Given the description of an element on the screen output the (x, y) to click on. 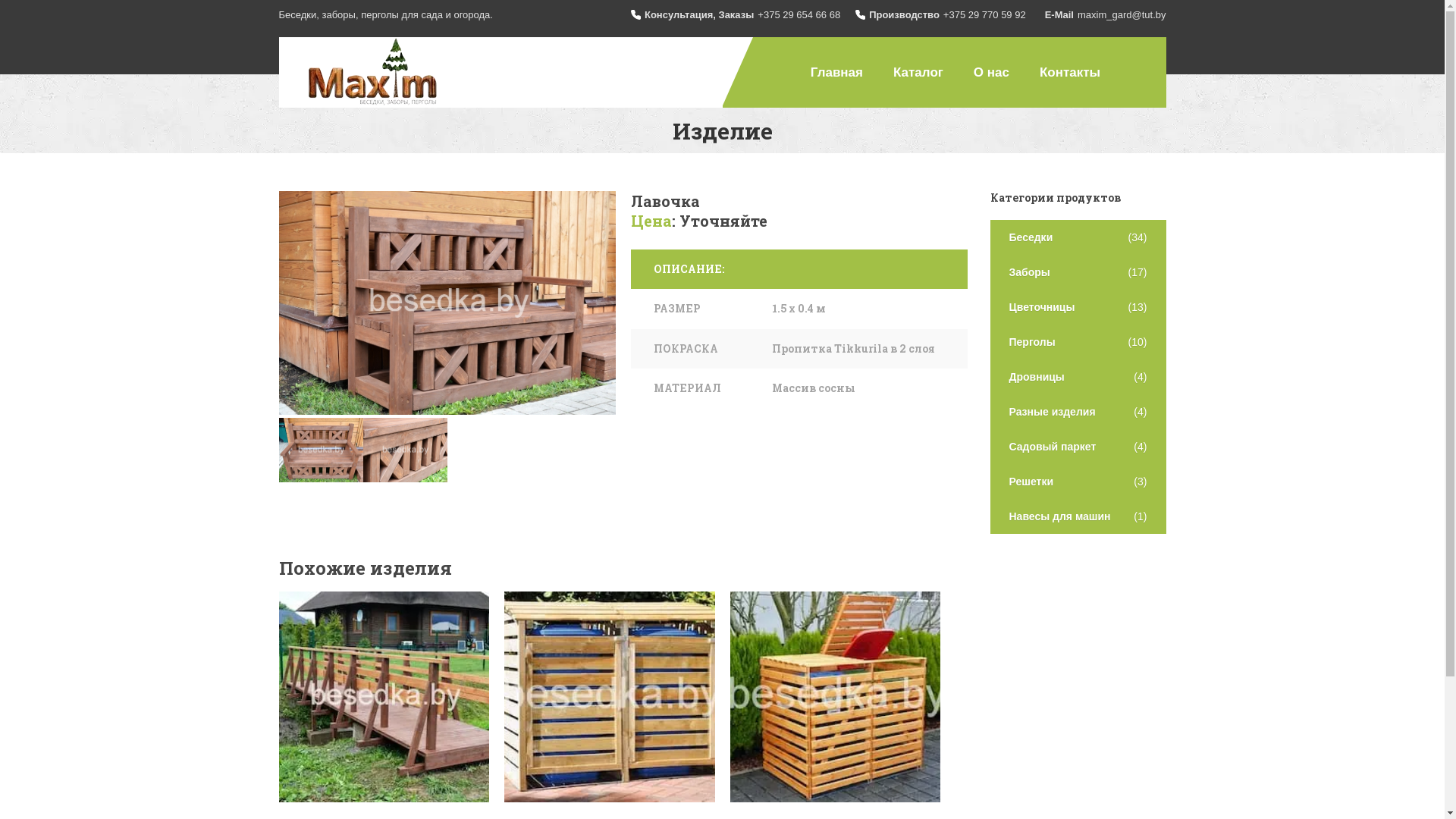
maxim_gard@tut.by Element type: text (1121, 14)
+375 29 770 59 92 Element type: text (984, 14)
+375 29 654 66 68 Element type: text (798, 14)
